Given the description of an element on the screen output the (x, y) to click on. 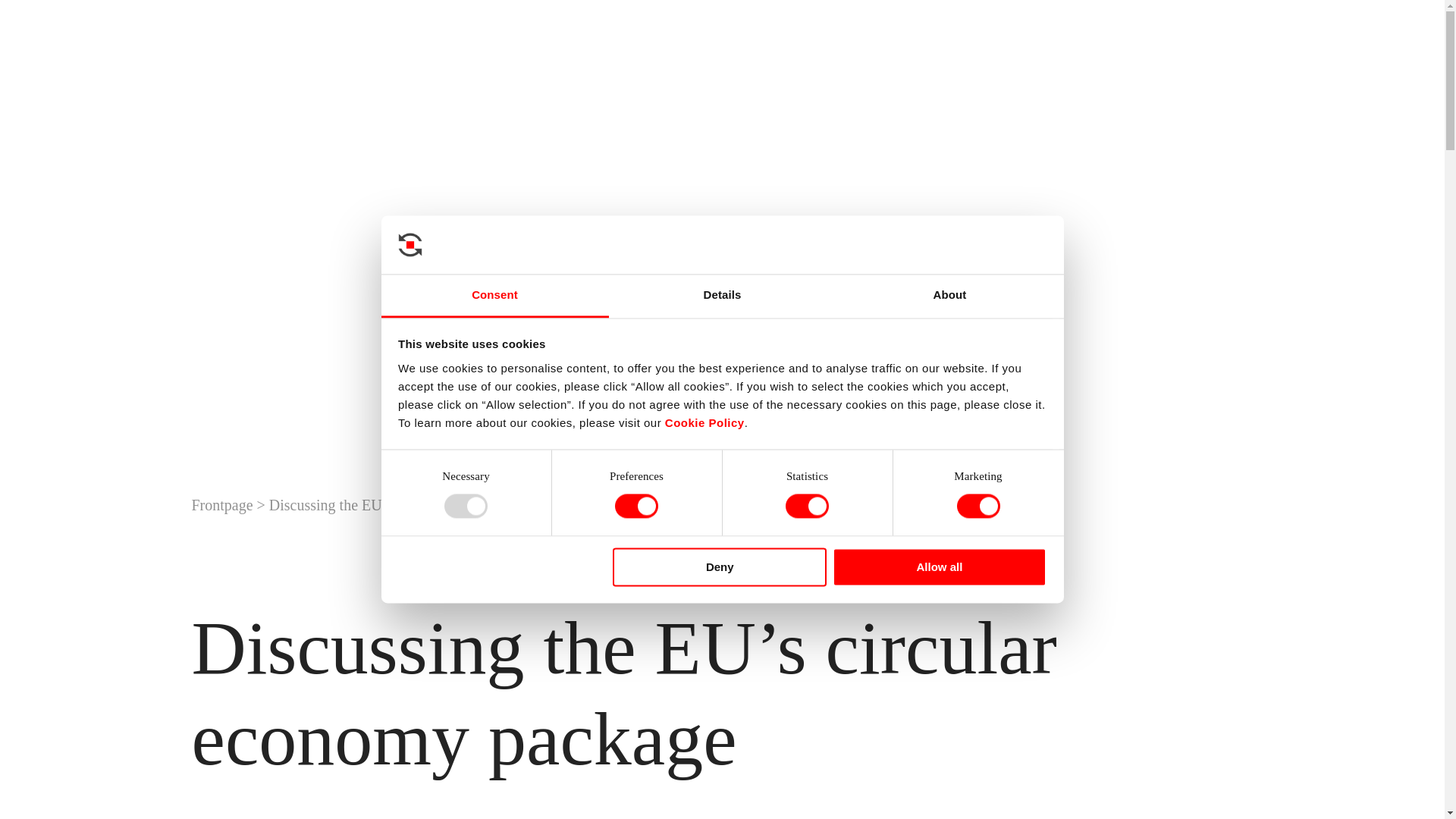
About (948, 295)
Cookie Policy (704, 422)
Consent (494, 295)
Details (721, 295)
